Given the description of an element on the screen output the (x, y) to click on. 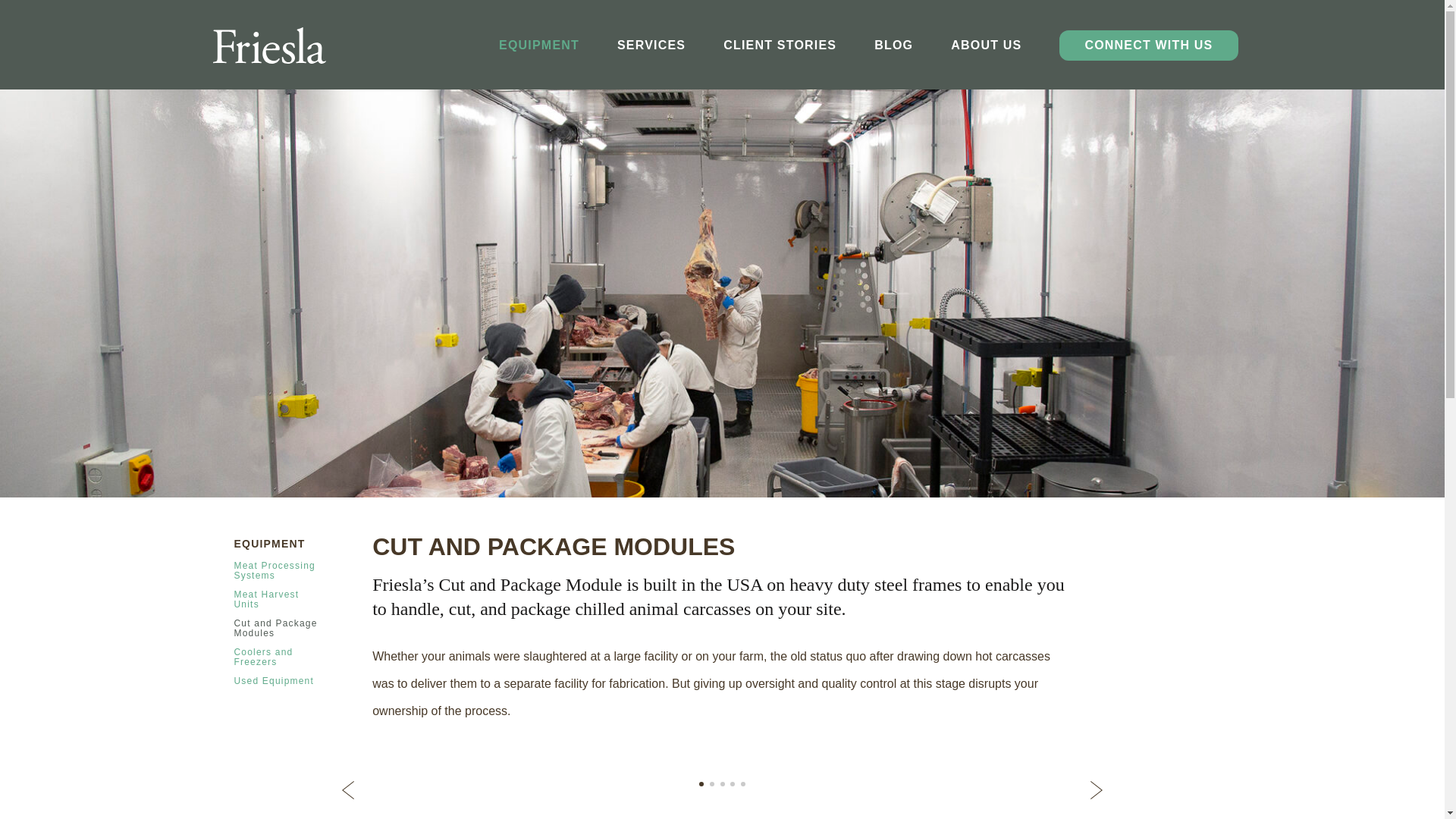
Meat Harvest Units (265, 598)
EQUIPMENT (539, 45)
CLIENT STORIES (780, 45)
SERVICES (651, 45)
Cut and Package Modules (274, 628)
CONNECT WITH US (1148, 45)
BLOG (893, 45)
ABOUT US (986, 45)
Meat Processing Systems (273, 570)
